Given the description of an element on the screen output the (x, y) to click on. 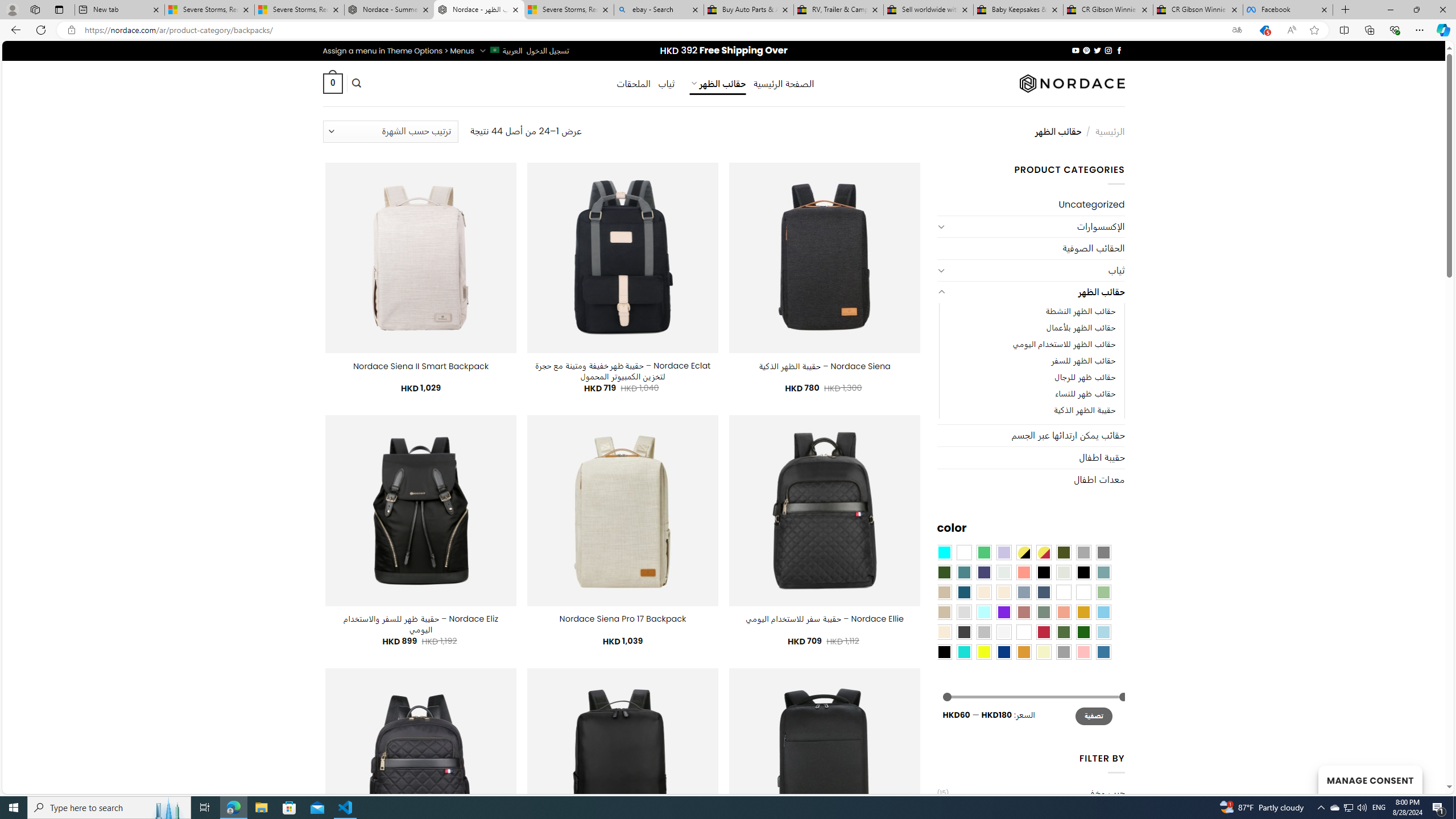
Follow on Instagram (1108, 50)
Khaki (1082, 591)
